Given the description of an element on the screen output the (x, y) to click on. 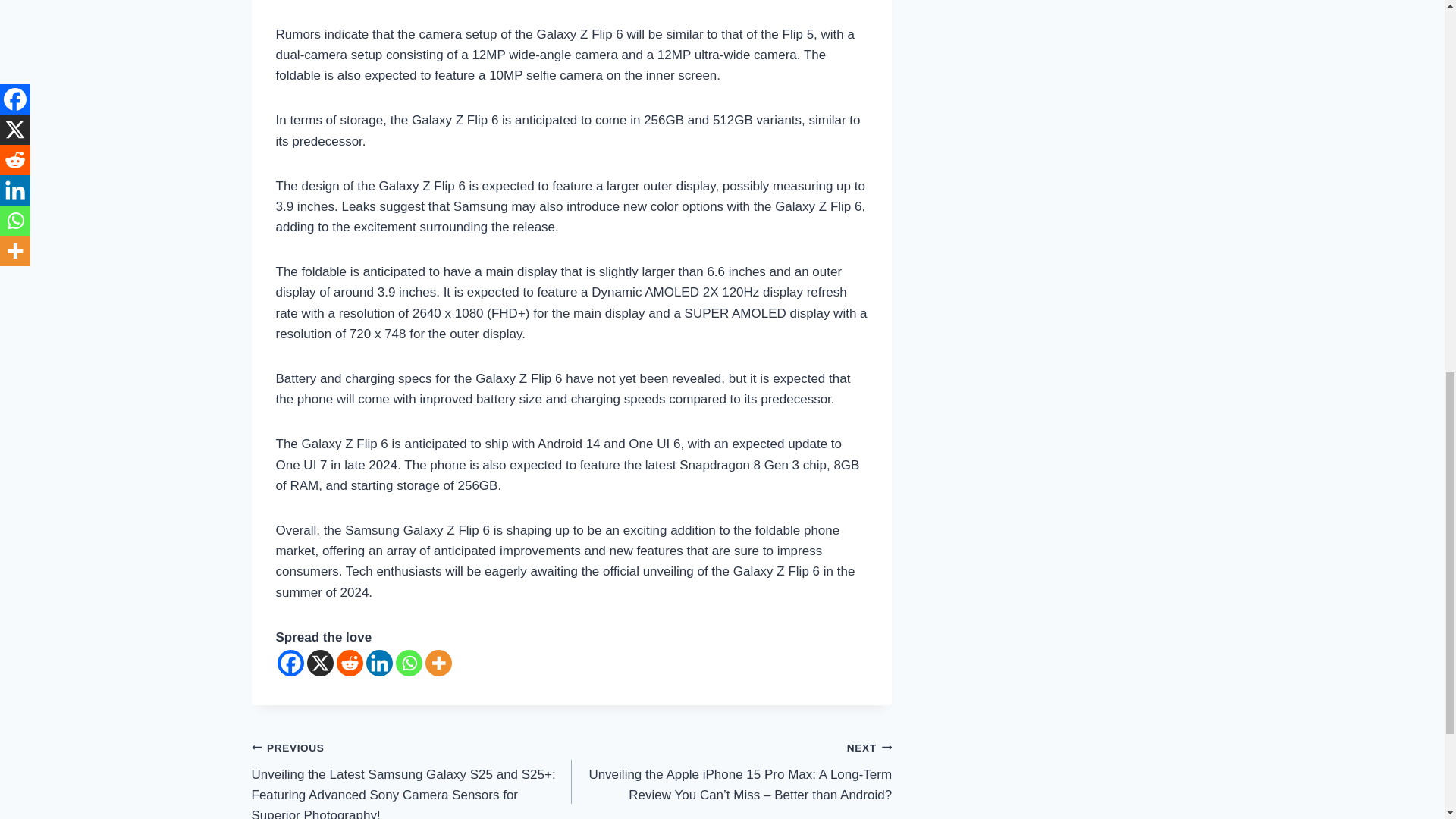
X (319, 663)
More (438, 663)
Whatsapp (409, 663)
Linkedin (378, 663)
Facebook (291, 663)
Reddit (349, 663)
